Given the description of an element on the screen output the (x, y) to click on. 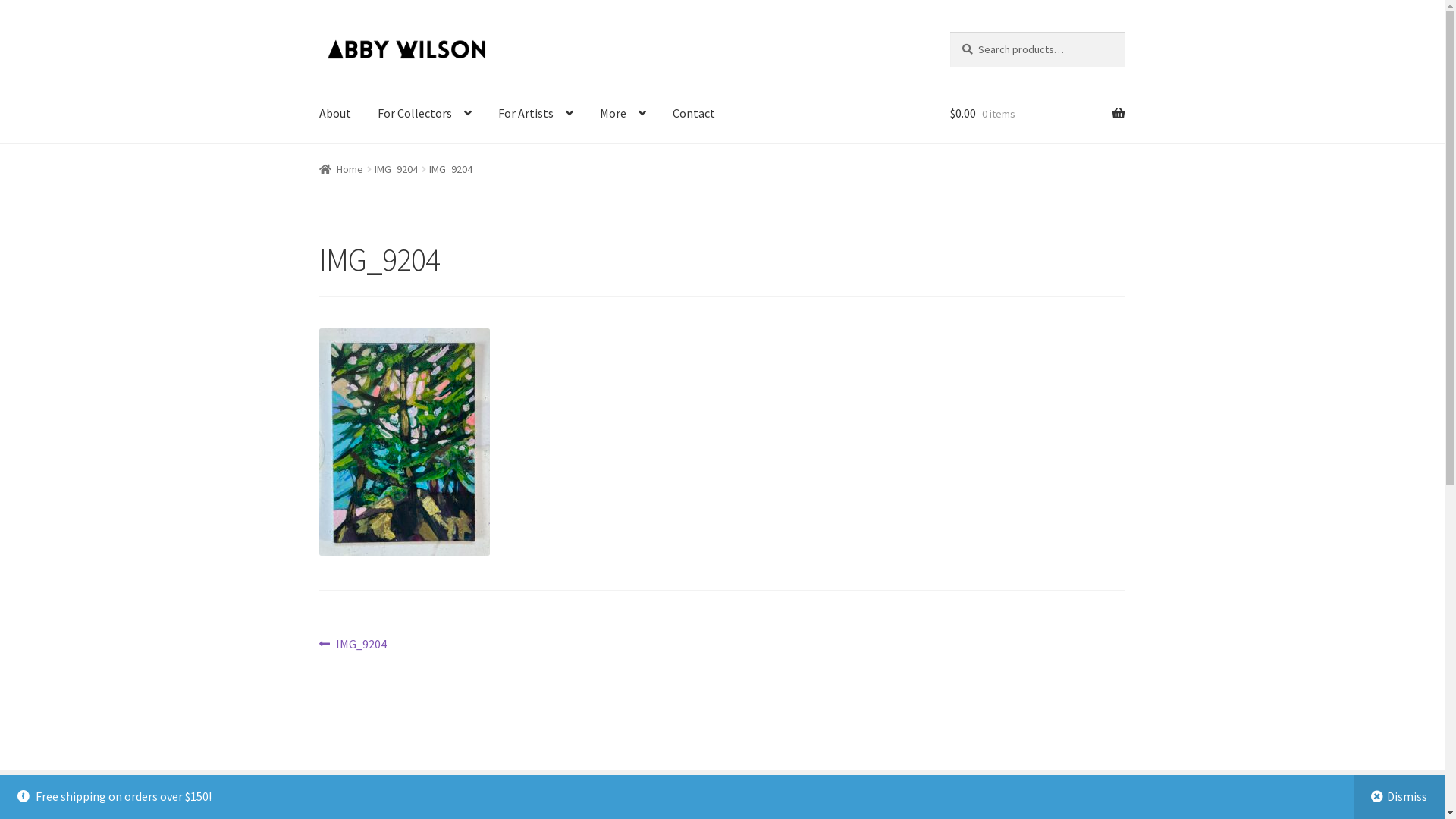
Previous post:
IMG_9204 Element type: text (353, 644)
About Element type: text (335, 113)
Contact Element type: text (693, 113)
Search Element type: text (949, 31)
For Collectors Element type: text (424, 113)
For Artists Element type: text (535, 113)
$0.00 0 items Element type: text (1037, 113)
Skip to navigation Element type: text (318, 31)
IMG_9204 Element type: text (395, 168)
Home Element type: text (341, 168)
More Element type: text (622, 113)
